Given the description of an element on the screen output the (x, y) to click on. 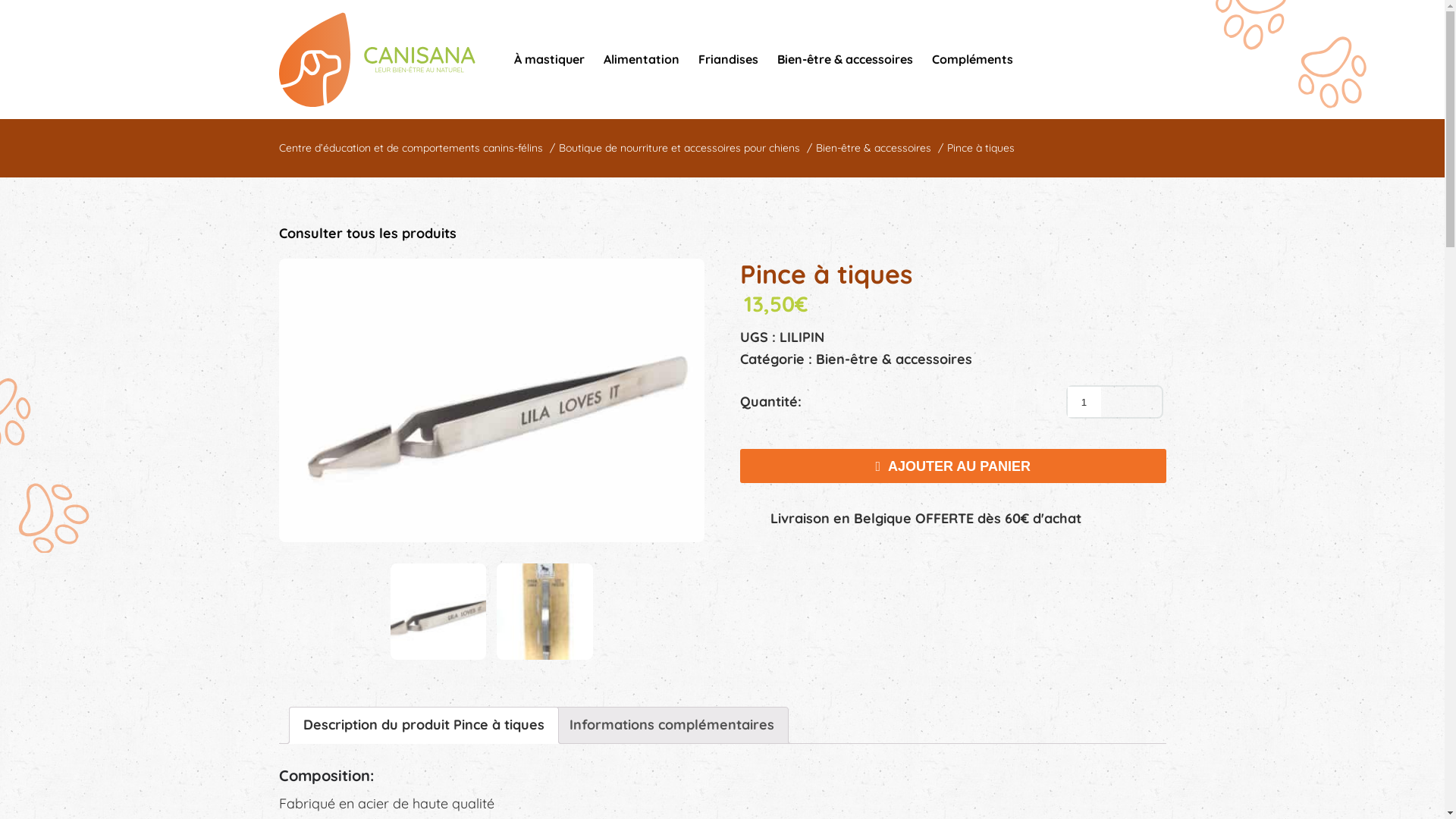
AJOUTER AU PANIER Element type: text (953, 465)
LILIPIN-1 Element type: hover (492, 400)
LILIPIN-1 Element type: hover (438, 610)
Alimentation Element type: text (641, 59)
Friandises Element type: text (727, 59)
Consulter tous les produits Element type: text (367, 232)
LILIPIN-2 Element type: hover (544, 610)
Boutique de nourriture et accessoires pour chiens Element type: text (678, 147)
